Given the description of an element on the screen output the (x, y) to click on. 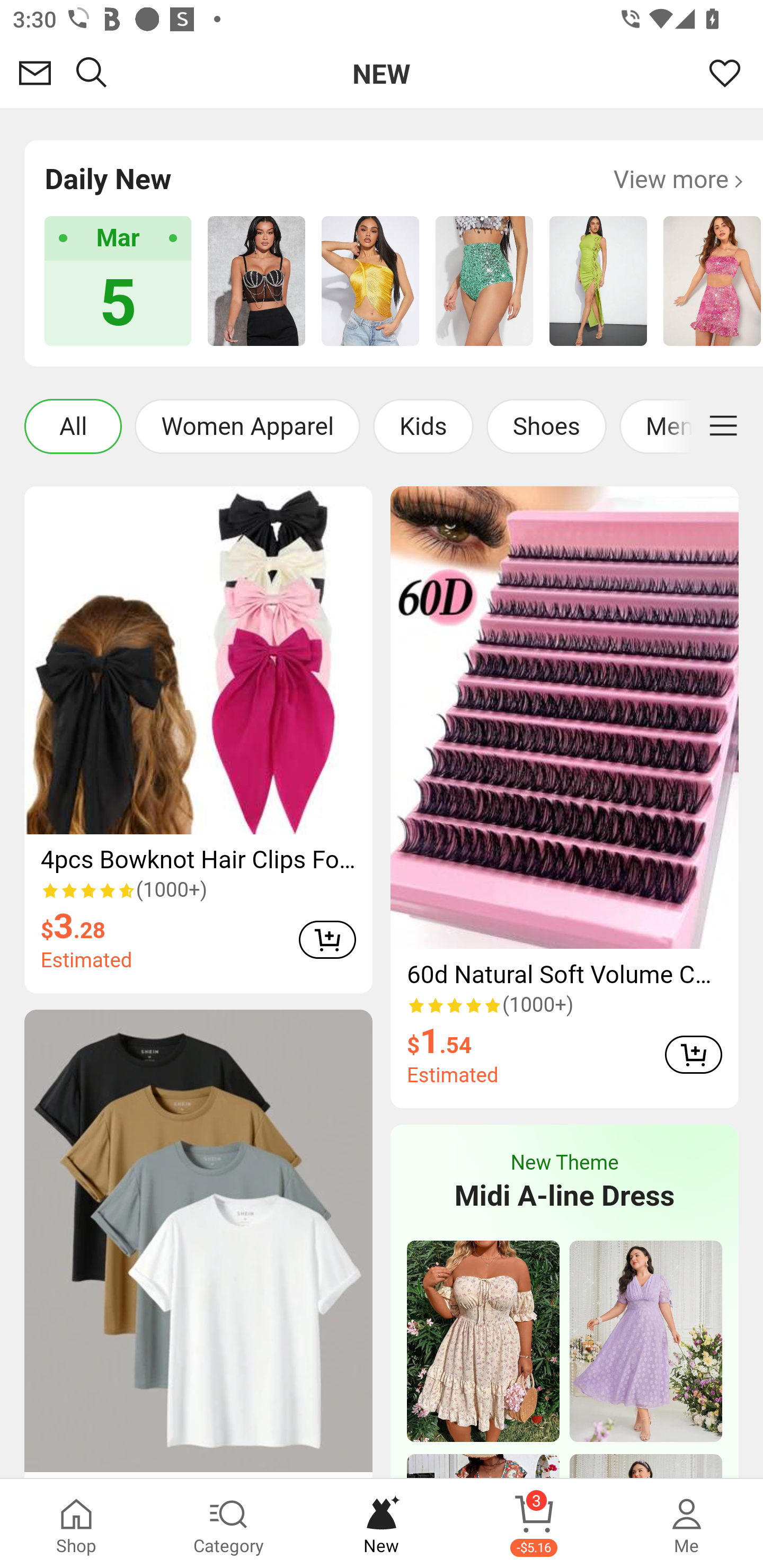
Search NEW Wishlist (381, 72)
Search (92, 72)
Wishlist (724, 72)
View more  (677, 179)
Mar5 (118, 280)
All (72, 426)
Women Apparel (246, 426)
Kids (422, 426)
Shoes (545, 426)
 (723, 426)
New Theme Midi A-line Dress (564, 1182)
Shop (76, 1523)
Category (228, 1523)
Cart 3 -$5.16 (533, 1523)
Me (686, 1523)
